Given the description of an element on the screen output the (x, y) to click on. 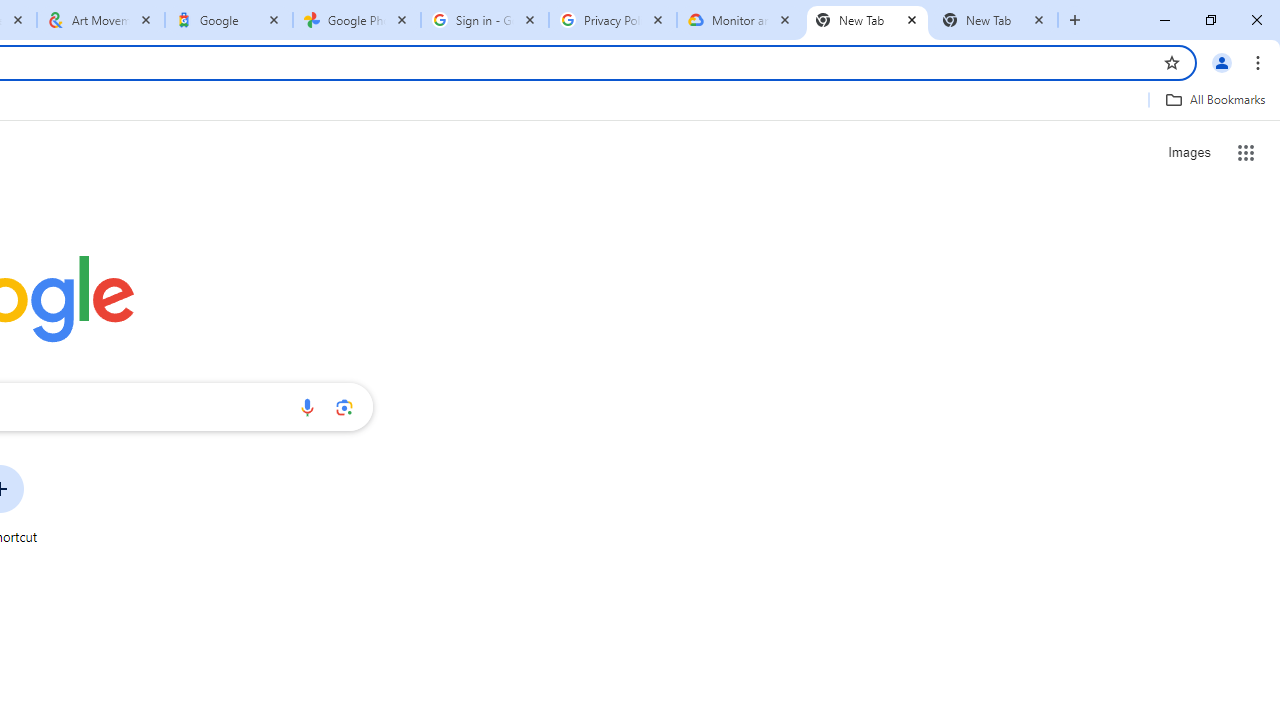
Search by voice (307, 407)
Google (229, 20)
New Tab (866, 20)
Search by image (344, 407)
